Given the description of an element on the screen output the (x, y) to click on. 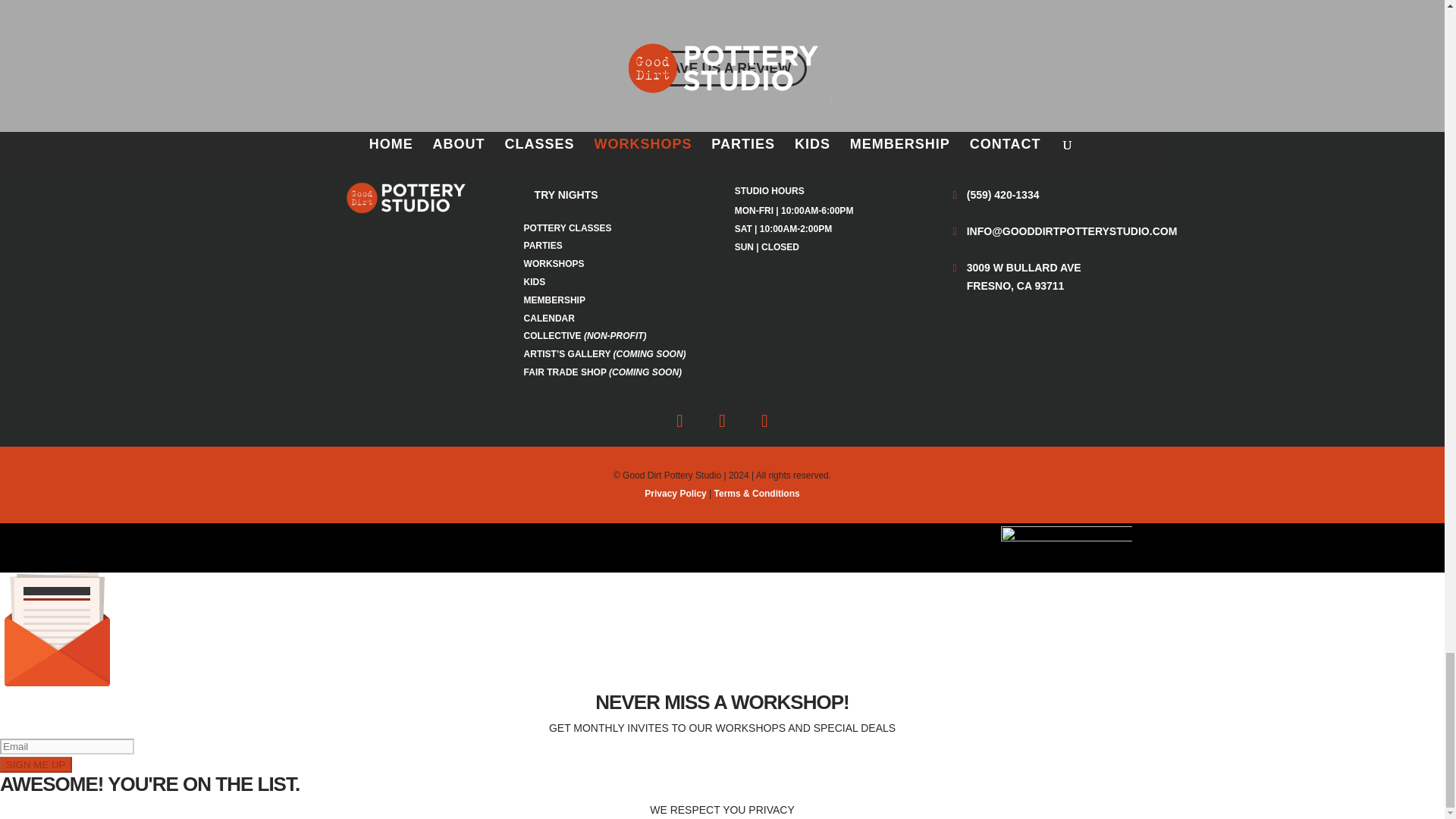
Follow on Yelp (764, 420)
Follow on Facebook (679, 420)
Follow on Instagram (721, 420)
GD-Header-Logo (405, 197)
WMG website powered by logo (1066, 543)
